Given the description of an element on the screen output the (x, y) to click on. 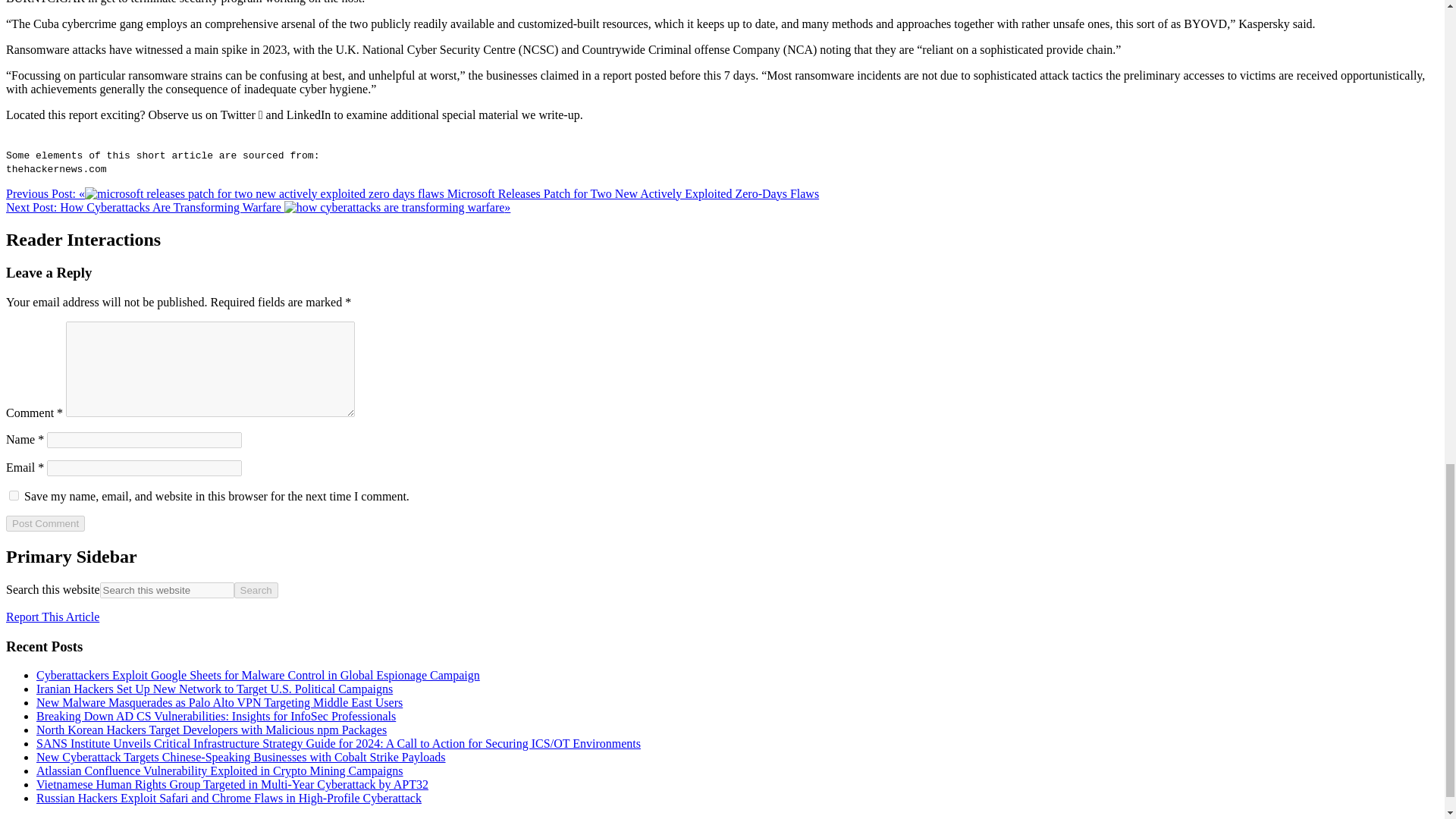
Search (256, 590)
Search (256, 590)
Post Comment (44, 523)
Post Comment (44, 523)
Search (256, 590)
